Given the description of an element on the screen output the (x, y) to click on. 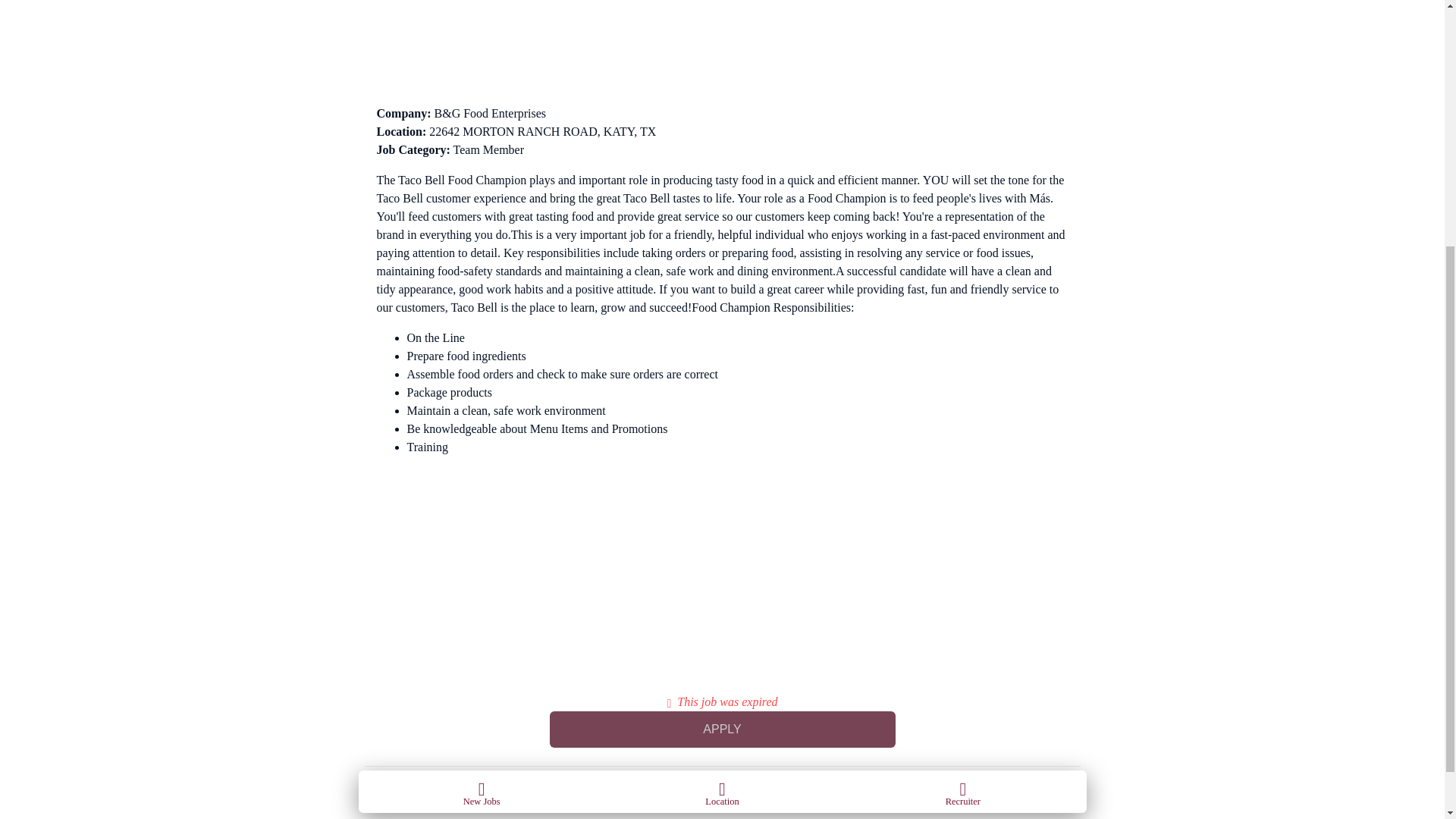
Location (722, 423)
Recruiter (963, 423)
Contact Us (462, 805)
Terms of Service (396, 805)
APPLY (721, 729)
New Jobs (481, 423)
